Given the description of an element on the screen output the (x, y) to click on. 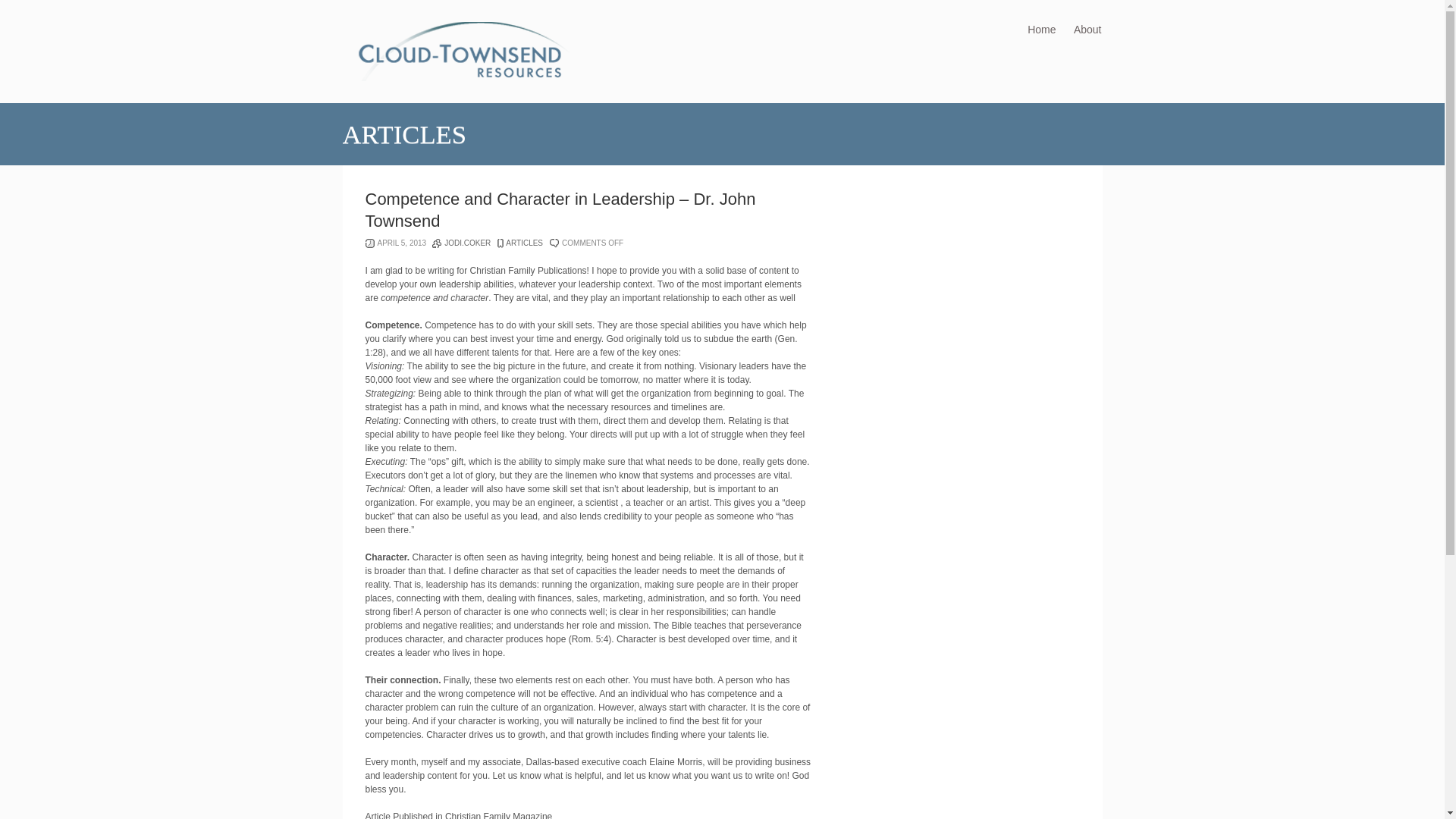
ARTICLES (524, 243)
About (1088, 29)
View all posts by jodi.coker (467, 243)
Home (1041, 29)
JODI.COKER (467, 243)
